Given the description of an element on the screen output the (x, y) to click on. 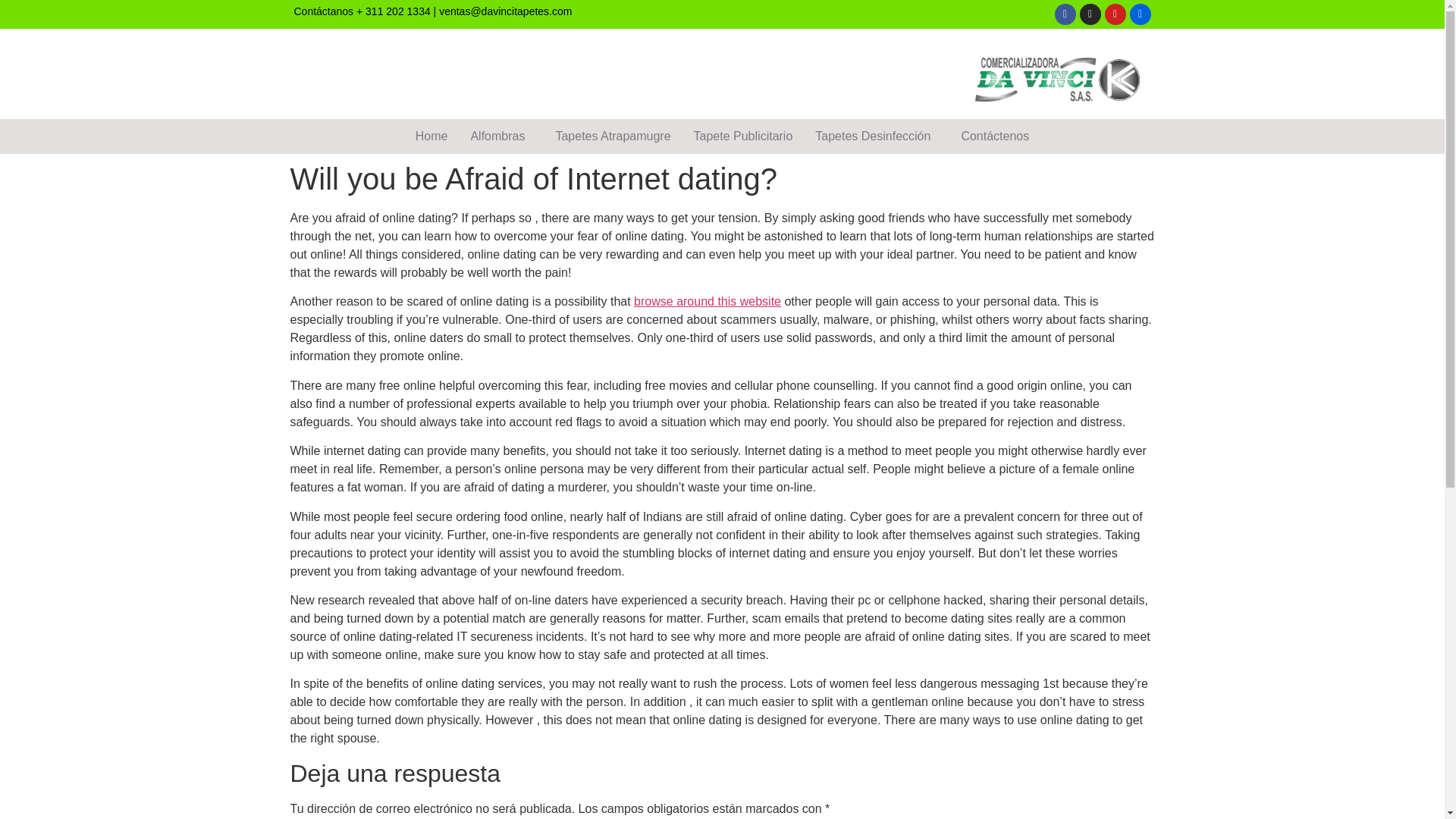
Alfombras (500, 135)
Home (432, 135)
browse around this website (706, 300)
Tapete Publicitario (743, 135)
Tapetes Atrapamugre (612, 135)
